Given the description of an element on the screen output the (x, y) to click on. 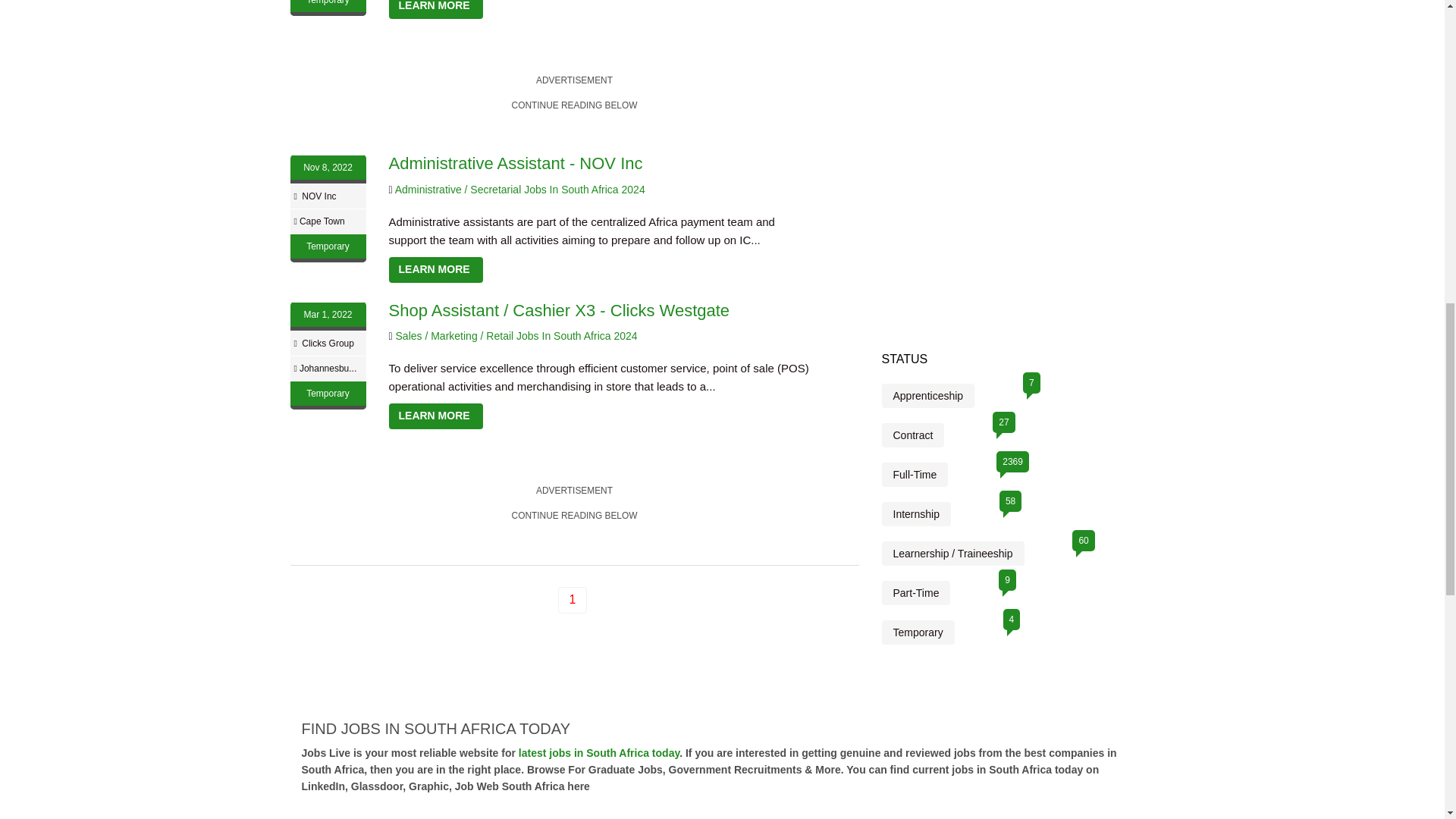
NOV Inc (318, 195)
Administrative Assistant - NOV Inc (515, 162)
LEARN MORE (434, 9)
Cape Town (322, 221)
